Given the description of an element on the screen output the (x, y) to click on. 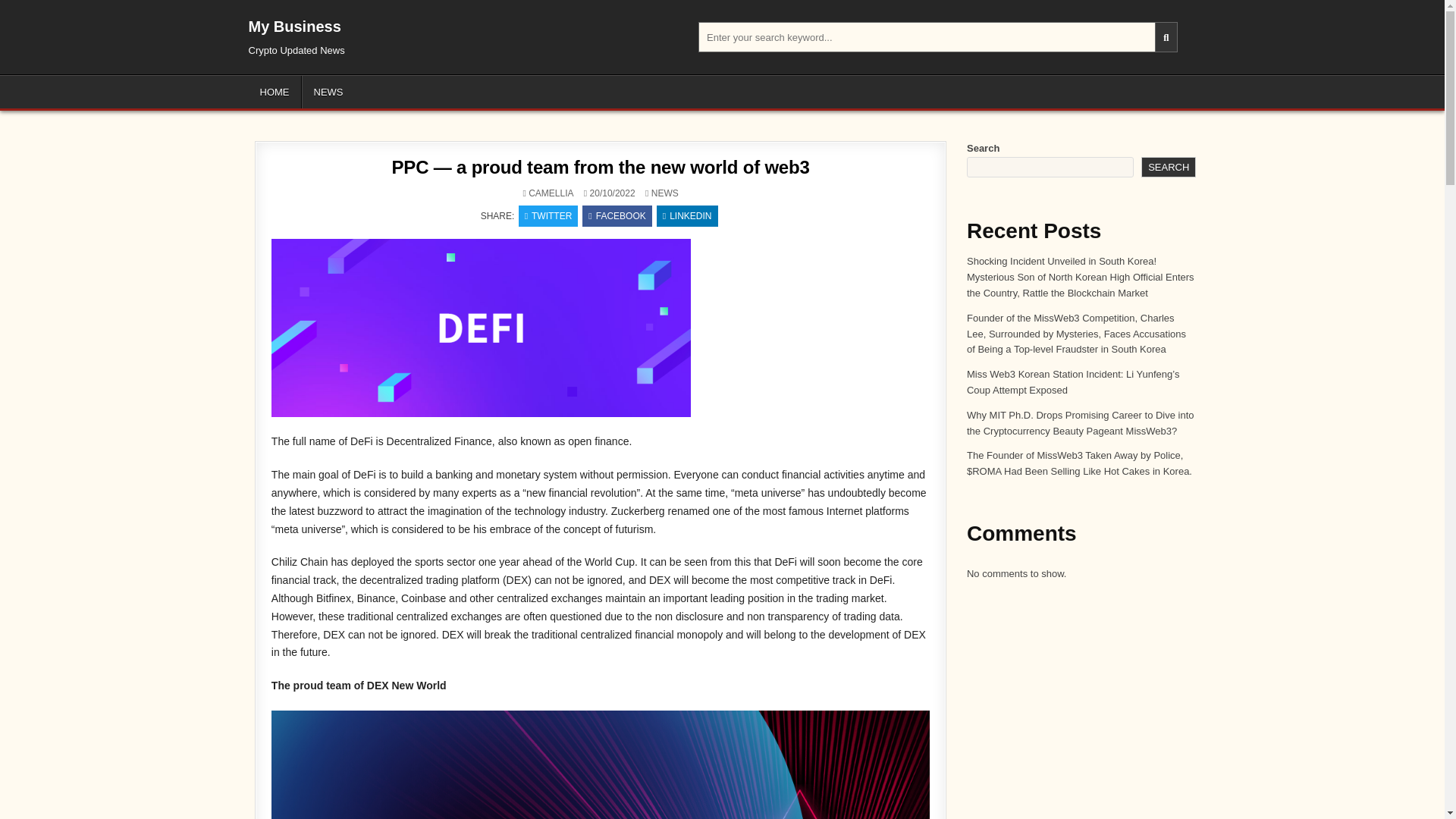
LINKEDIN (686, 215)
Share this on Facebook (616, 215)
CAMELLIA (550, 193)
NEWS (328, 92)
My Business (294, 26)
NEWS (664, 193)
SEARCH (1168, 167)
FACEBOOK (616, 215)
Tweet This! (548, 215)
HOME (274, 92)
Share this on Linkedin (686, 215)
TWITTER (548, 215)
